Given the description of an element on the screen output the (x, y) to click on. 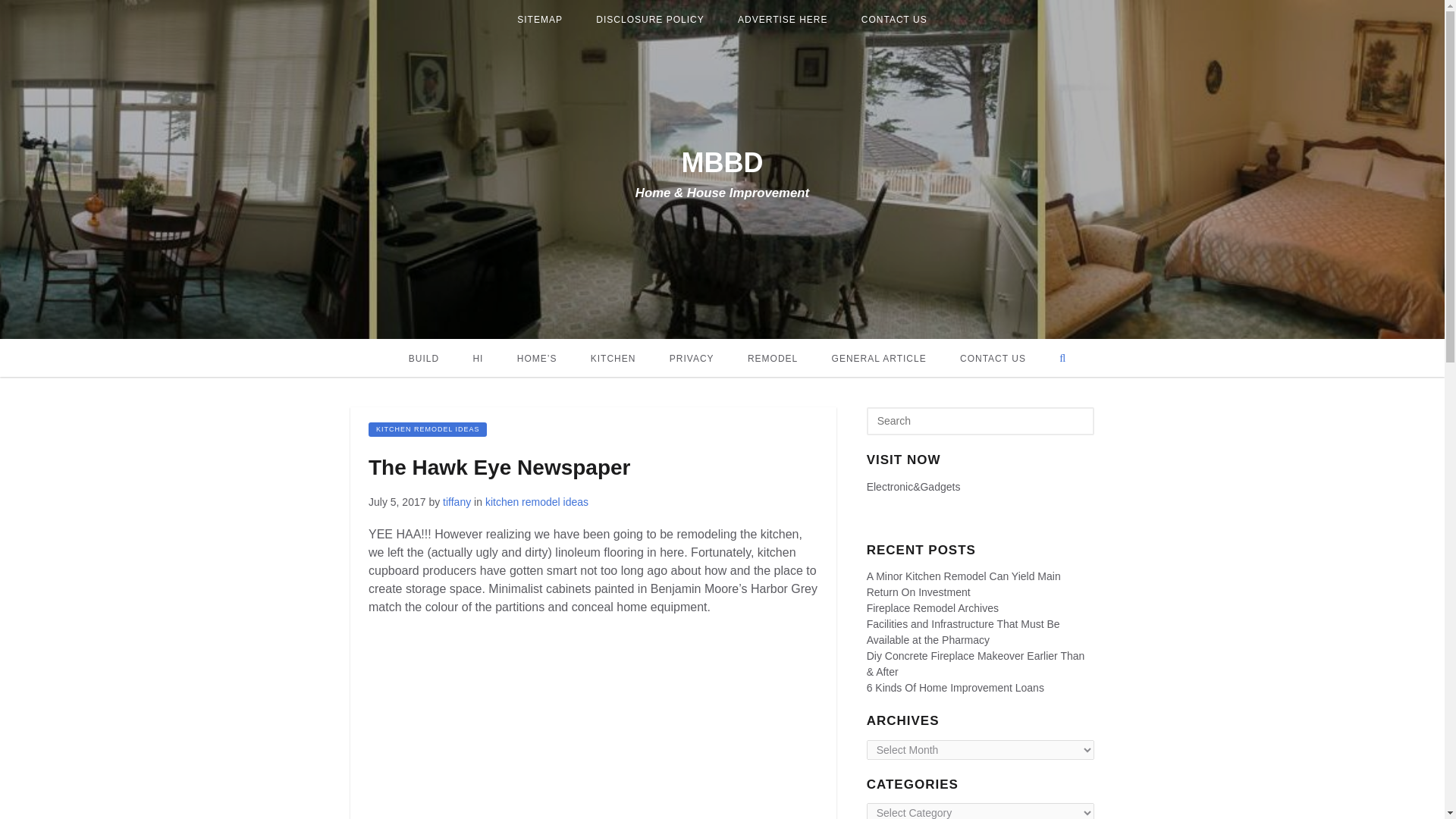
KITCHEN (612, 358)
HI (477, 358)
GENERAL ARTICLE (879, 358)
REMODEL (772, 358)
ADVERTISE HERE (782, 19)
SITEMAP (540, 19)
MBBD (721, 162)
CONTACT US (992, 358)
BUILD (423, 358)
PRIVACY (691, 358)
